Given the description of an element on the screen output the (x, y) to click on. 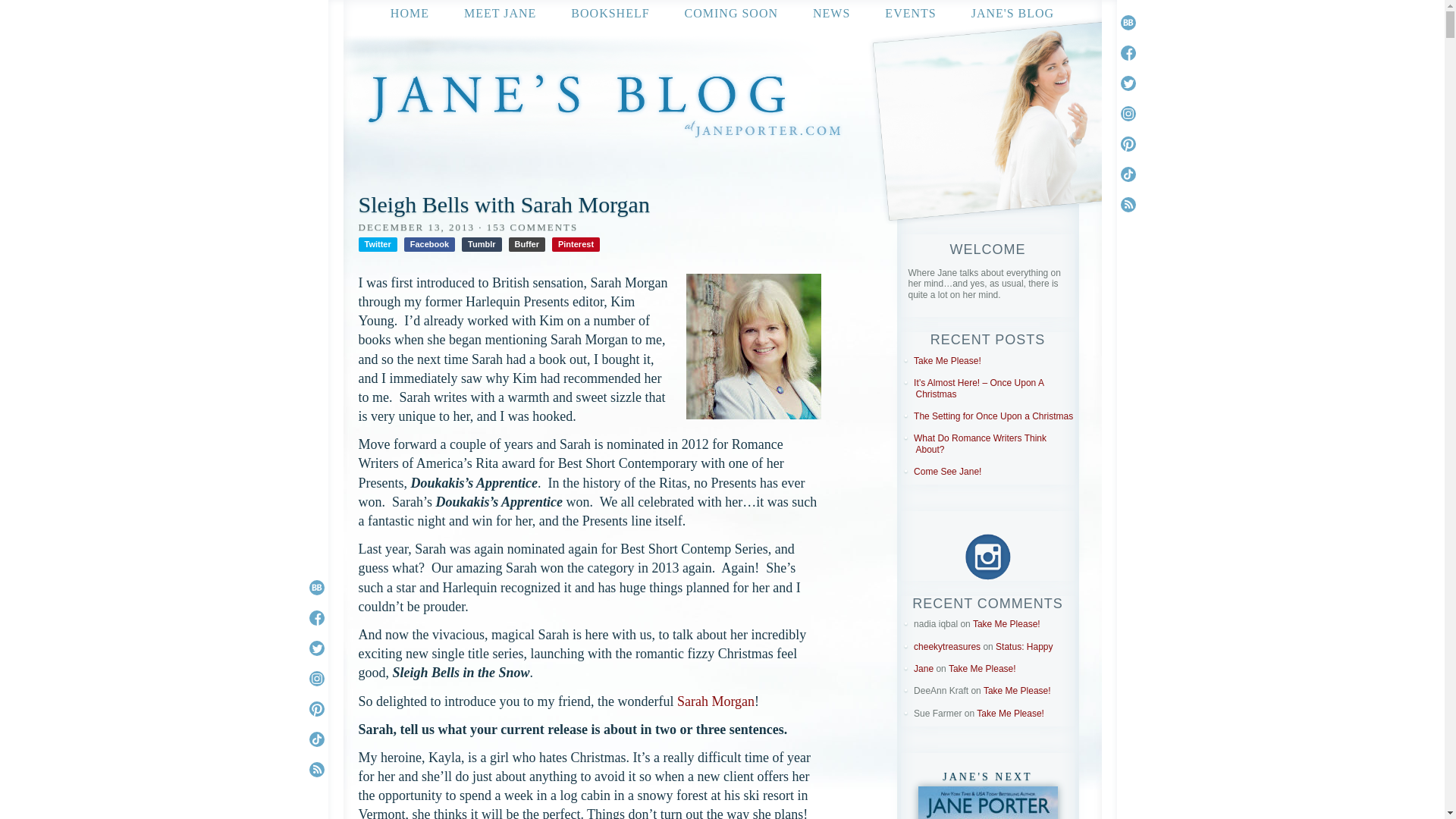
JANE'S BLOG (1012, 12)
COMING SOON (730, 12)
Buffer (526, 244)
BOOKSHELF (609, 12)
Twitter (377, 244)
MEET JANE (499, 12)
Tumblr (480, 244)
NEWS (831, 12)
EVENTS (910, 12)
Pinterest (575, 244)
Sarah Morgan (715, 701)
HOME (409, 12)
153 COMMENTS (532, 226)
Facebook (429, 244)
